Given the description of an element on the screen output the (x, y) to click on. 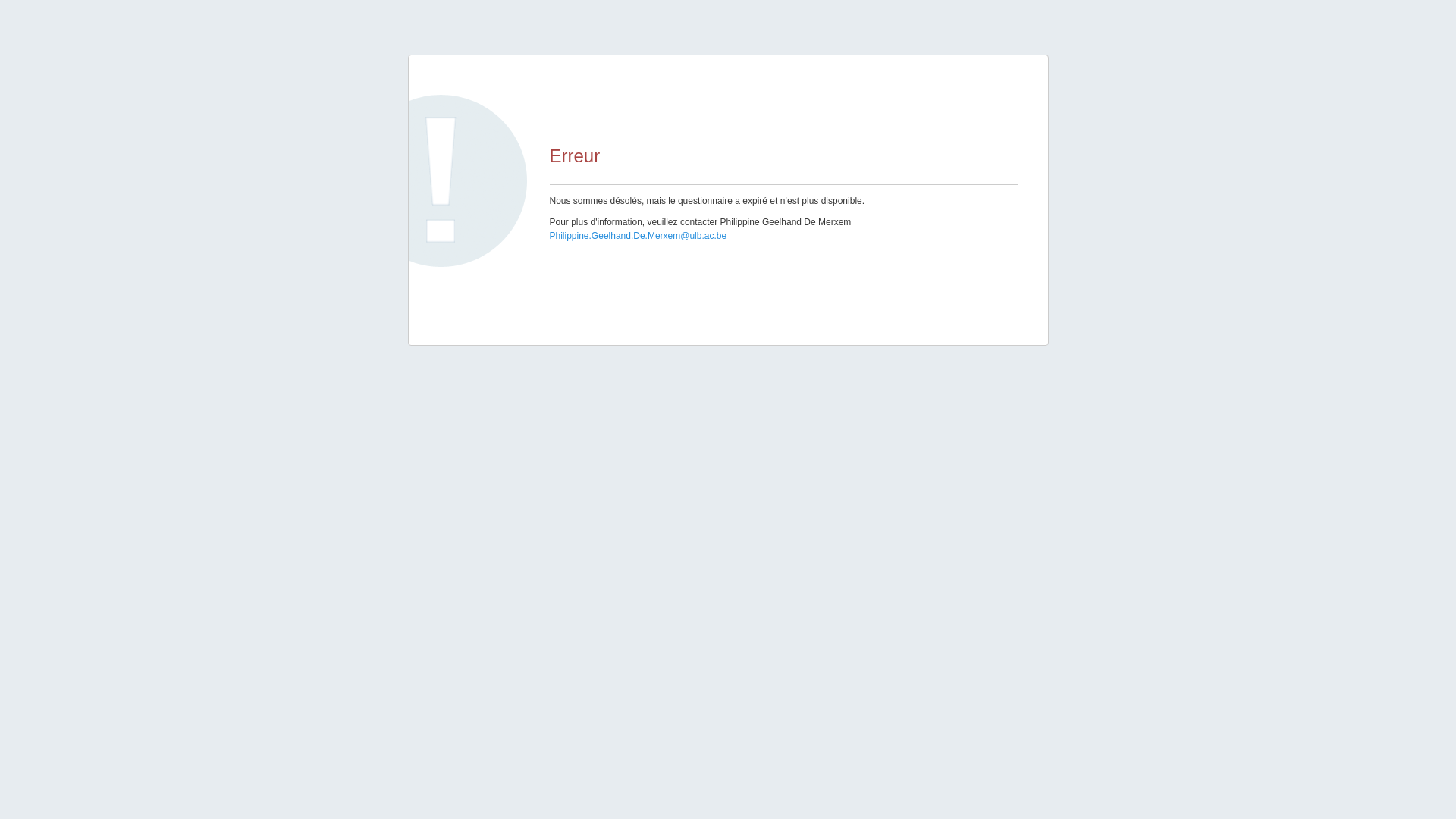
Philippine.Geelhand.De.Merxem@ulb.ac.be Element type: text (637, 235)
